Given the description of an element on the screen output the (x, y) to click on. 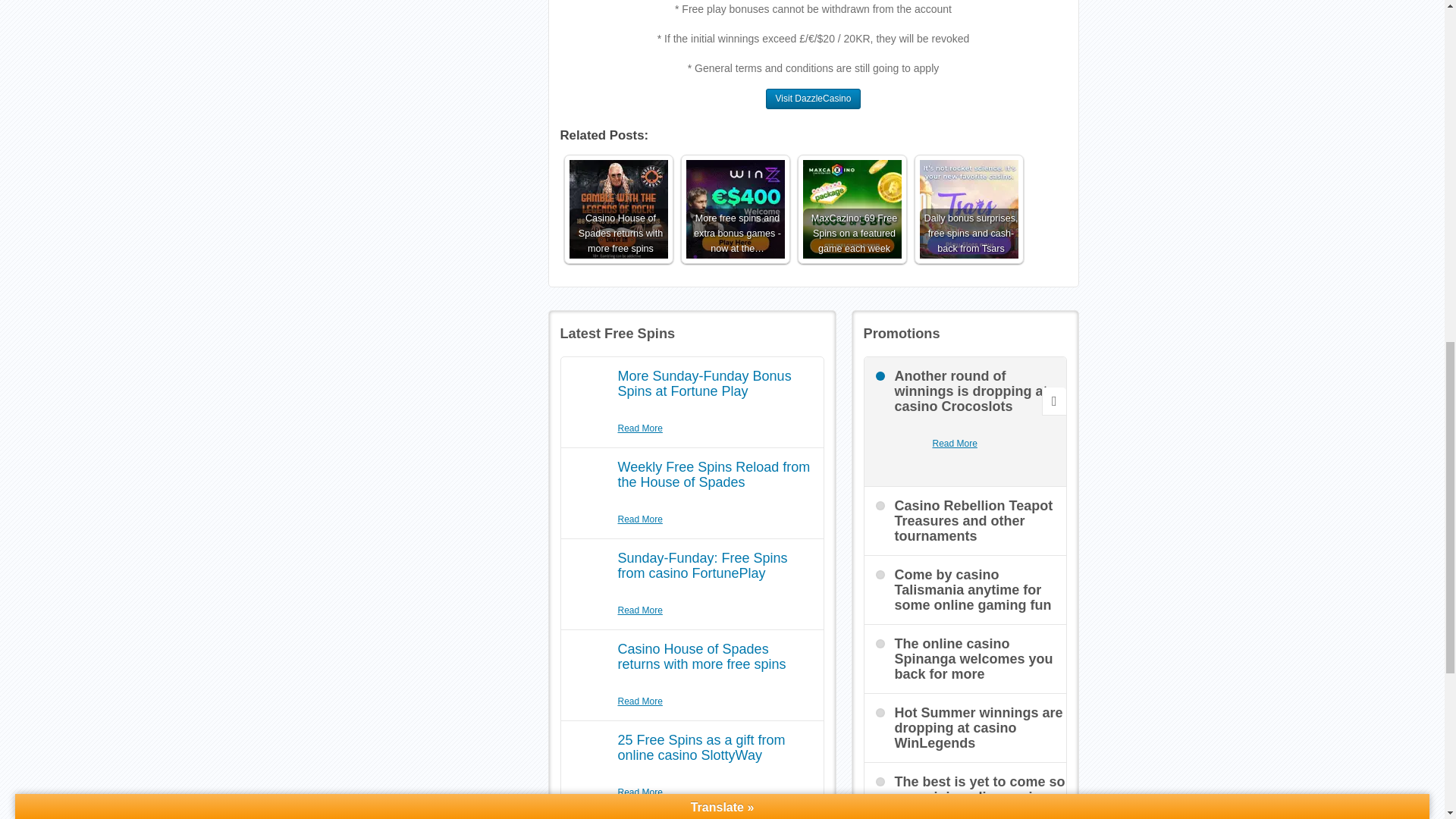
Read More (639, 701)
25 Free Spins as a gift from online casino SlottyWay (700, 747)
Casino House of Spades returns with more free spins (617, 208)
Read More (639, 792)
Casino House of Spades returns with more free spins (701, 656)
More Sunday-Funday Bonus Spins at Fortune Play (703, 383)
Read More (639, 428)
Daily bonus surprises, free spins and cash-back from Tsars (967, 208)
Sunday-Funday: Free Spins from casino FortunePlay (702, 565)
Casino House of Spades returns with more free spins (617, 208)
MaxCazino: 69 Free Spins on a featured game each week (851, 208)
Daily bonus surprises, free spins and cash-back from Tsars (967, 208)
Read More (639, 519)
Read More (639, 610)
